Given the description of an element on the screen output the (x, y) to click on. 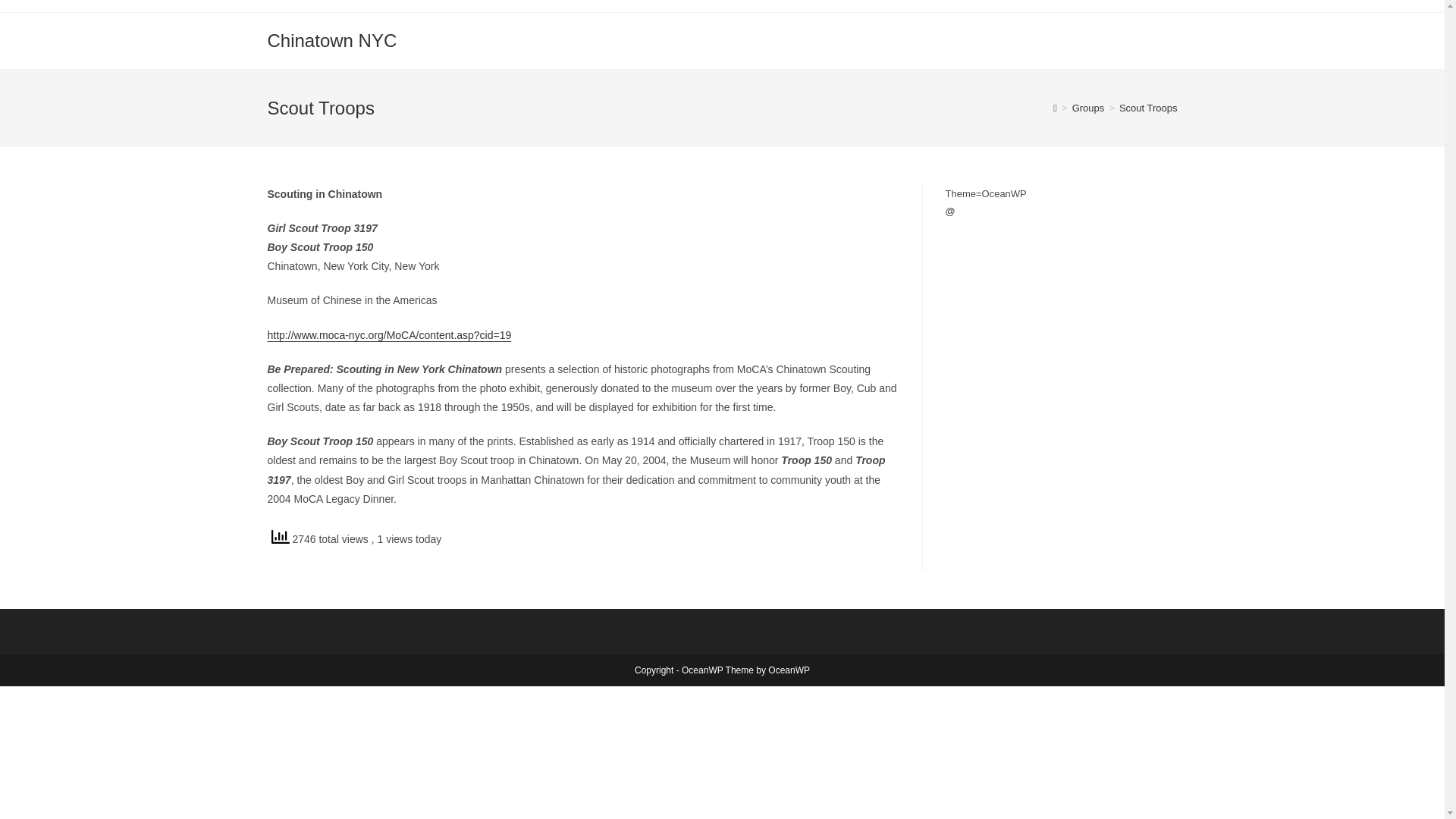
Chinatown NYC (331, 40)
